Given the description of an element on the screen output the (x, y) to click on. 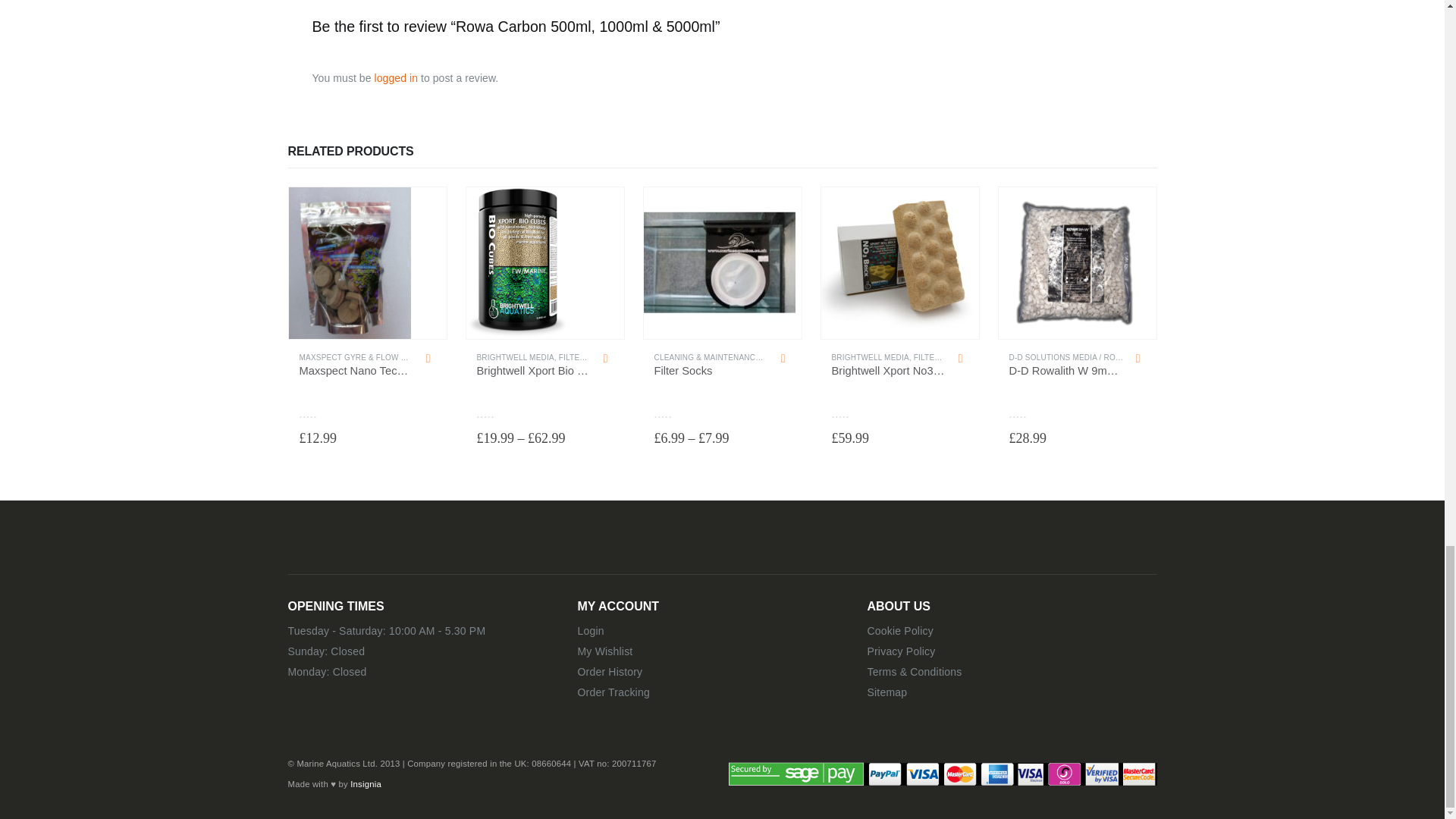
logged in (395, 78)
